Given the description of an element on the screen output the (x, y) to click on. 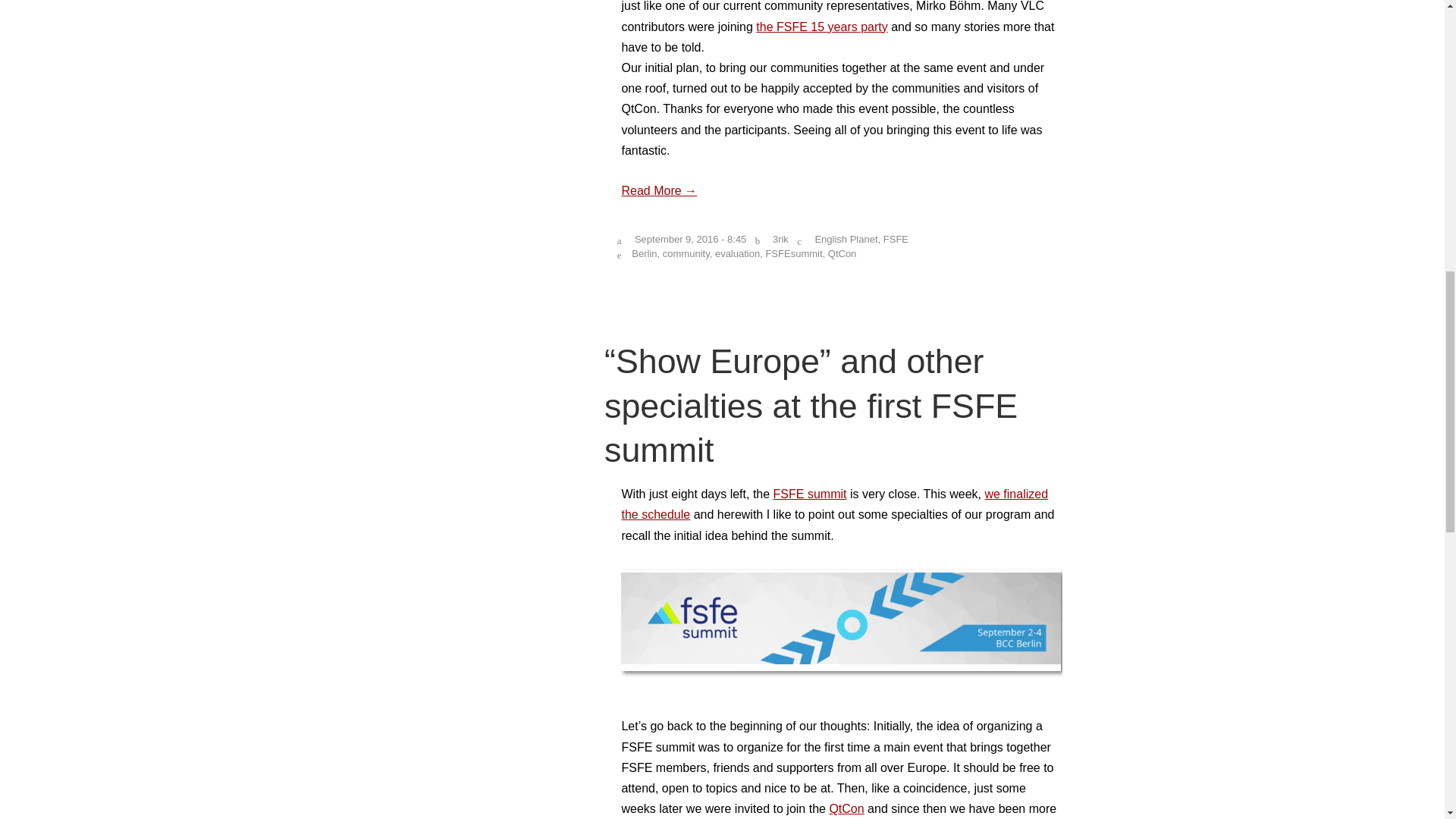
the FSFE 15 years party (820, 26)
QtCon (842, 253)
Posts by 3rik (781, 238)
September 9, 2016 - 8:45 (689, 238)
FSFE (895, 238)
evaluation (737, 253)
3rik (781, 238)
English Planet (845, 238)
FSFEsummit (793, 253)
we finalized the schedule (834, 503)
